Given the description of an element on the screen output the (x, y) to click on. 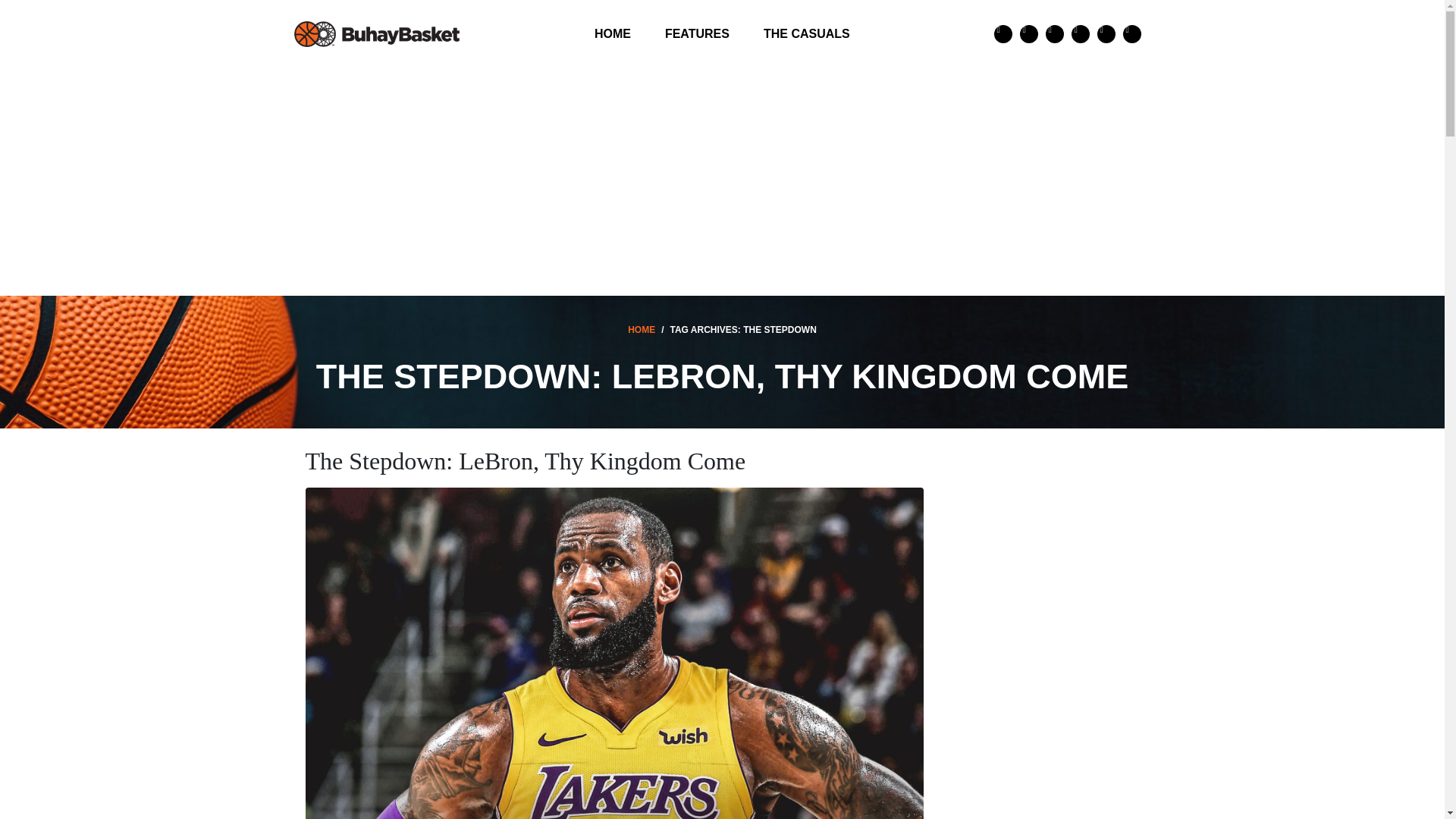
The Stepdown: LeBron, Thy Kingdom Come (524, 461)
FEATURES (696, 33)
HOME (612, 33)
THE CASUALS (806, 33)
HOME (641, 329)
The Stepdown: LeBron, Thy Kingdom Come (524, 461)
The Stepdown: LeBron, Thy Kingdom Come (613, 659)
